Given the description of an element on the screen output the (x, y) to click on. 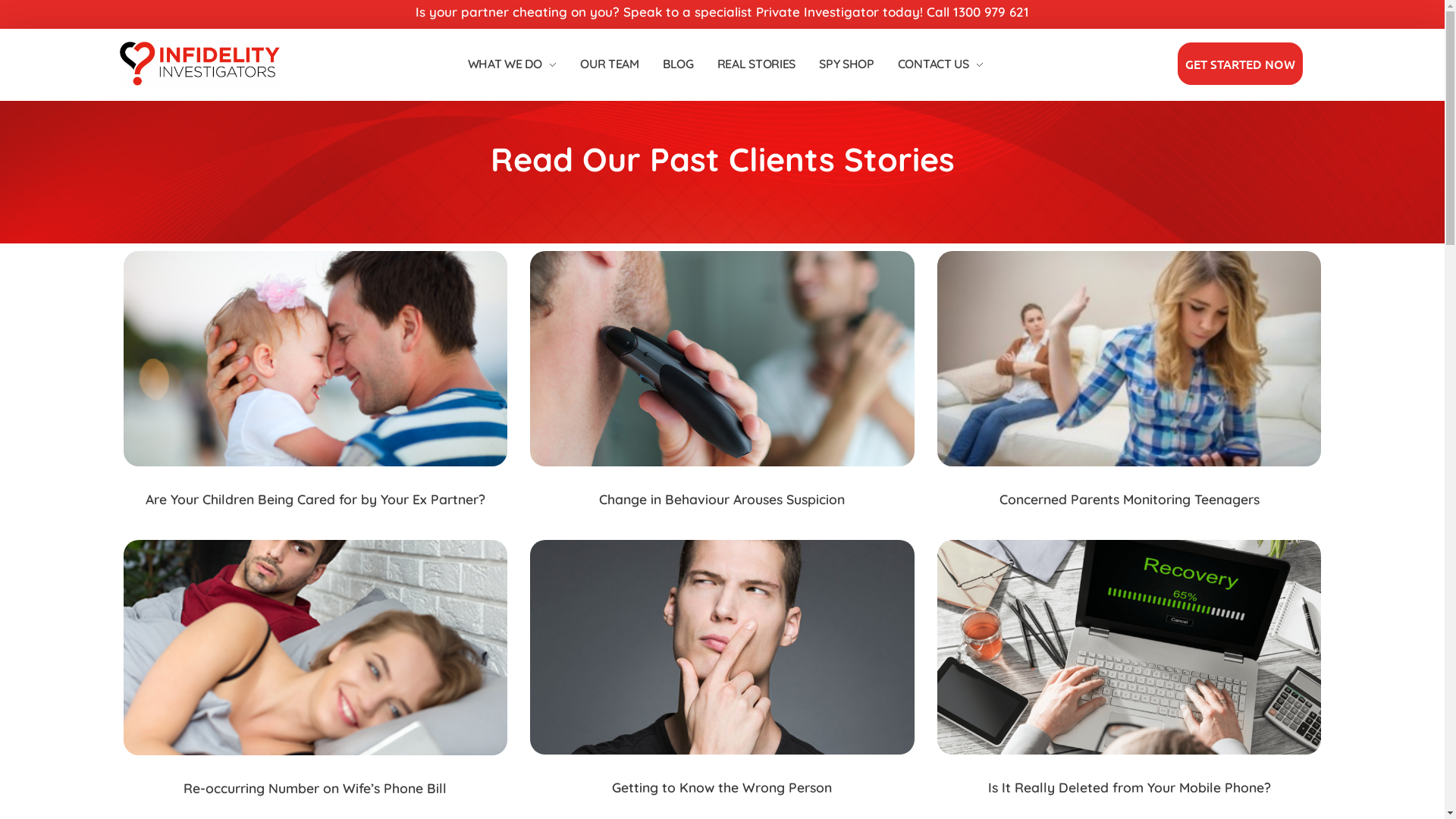
GET STARTED NOW Element type: text (1239, 63)
Getting to Know the Wrong Person Element type: text (721, 786)
WHAT WE DO Element type: text (520, 63)
Change in Behaviour Arouses Suspicion Element type: text (721, 498)
Infidelity Investigators Element type: text (205, 94)
REAL STORIES Element type: text (756, 63)
Concerned Parents Monitoring Teenagers Element type: text (1129, 498)
OUR TEAM Element type: text (609, 63)
BLOG Element type: text (677, 63)
SPY SHOP Element type: text (846, 63)
CONTACT US Element type: text (932, 63)
1300 979 621 Element type: text (991, 11)
Are Your Children Being Cared for by Your Ex Partner? Element type: text (315, 498)
Is It Really Deleted from Your Mobile Phone? Element type: text (1129, 786)
Infidelity Investigators Element type: hover (206, 63)
